Given the description of an element on the screen output the (x, y) to click on. 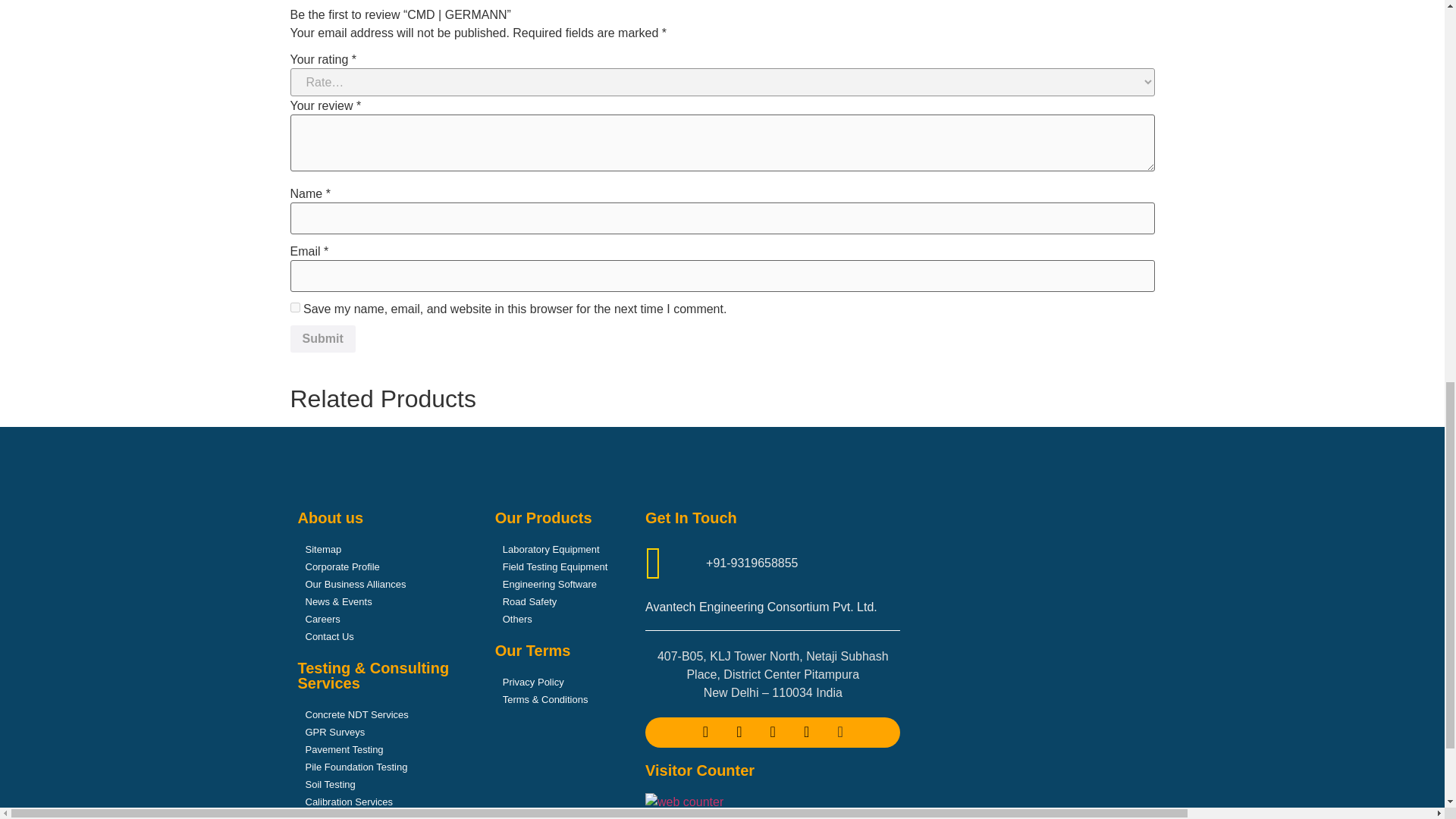
yes (294, 307)
web counter (684, 801)
web counter (684, 802)
Submit (322, 338)
